Given the description of an element on the screen output the (x, y) to click on. 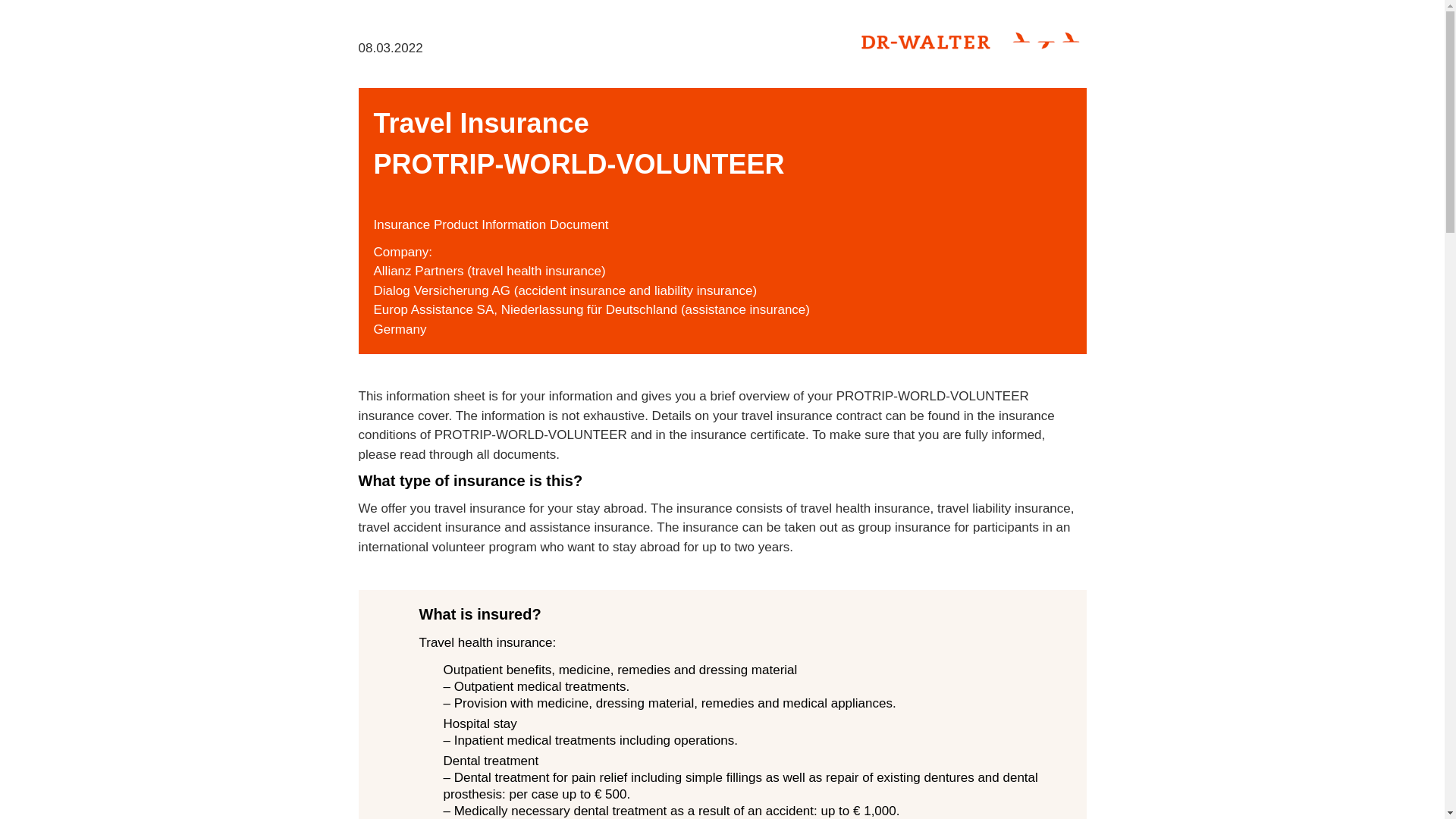
logo (972, 40)
